Given the description of an element on the screen output the (x, y) to click on. 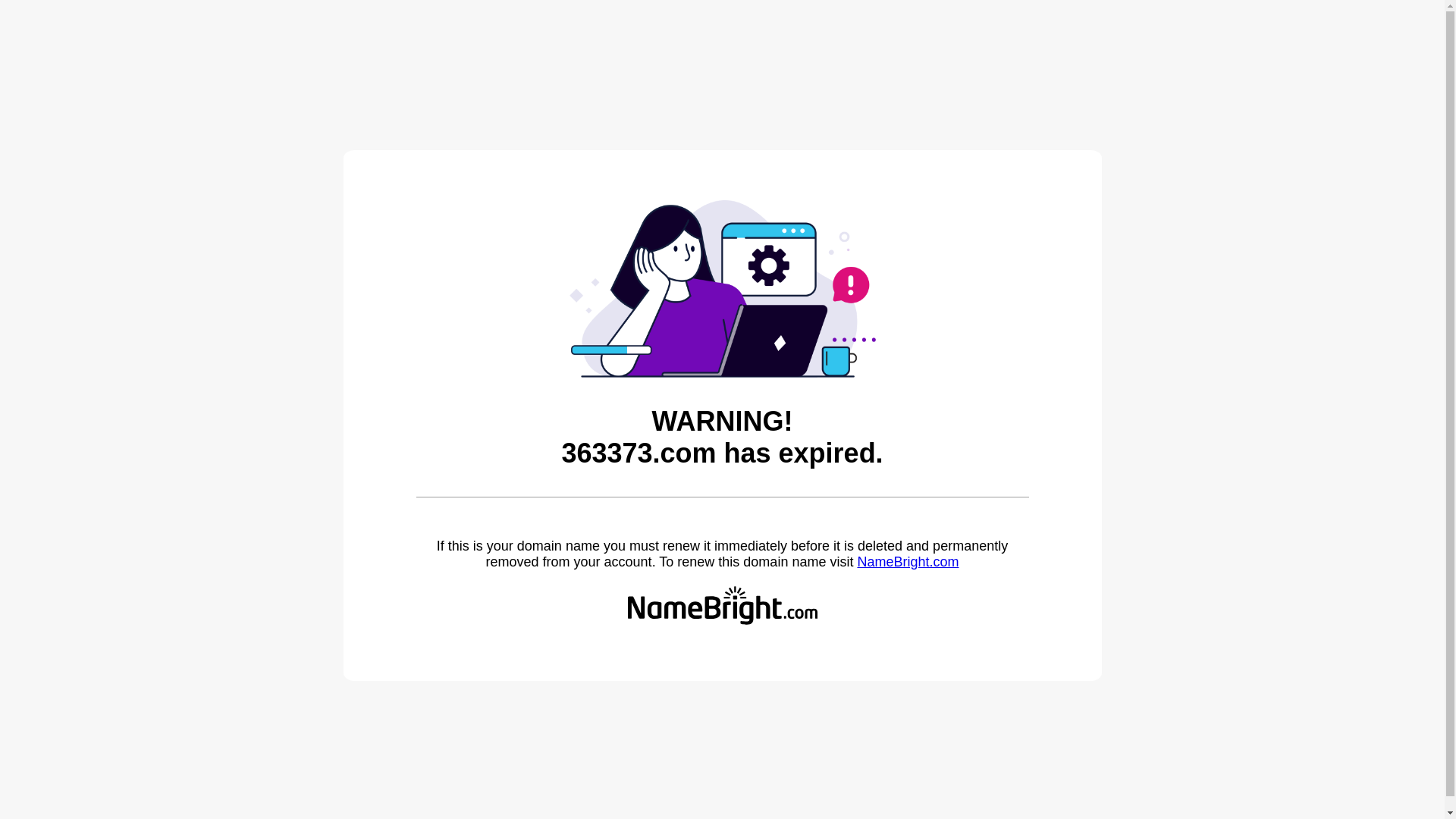
NameBright.com Element type: text (907, 561)
